Given the description of an element on the screen output the (x, y) to click on. 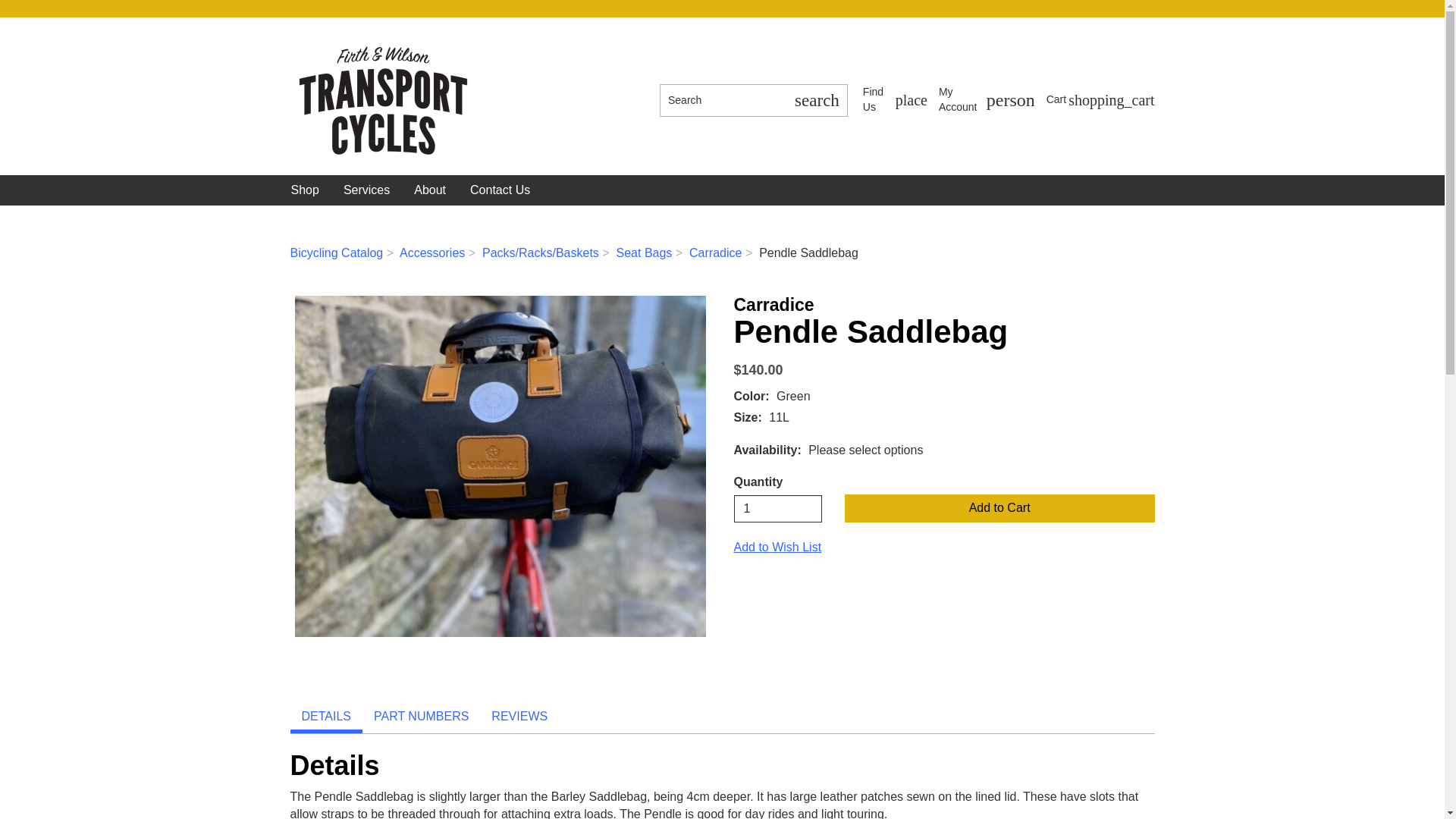
Search (895, 100)
Account (722, 100)
1 (987, 100)
Stores (777, 508)
Shop (895, 100)
Search (987, 100)
